Given the description of an element on the screen output the (x, y) to click on. 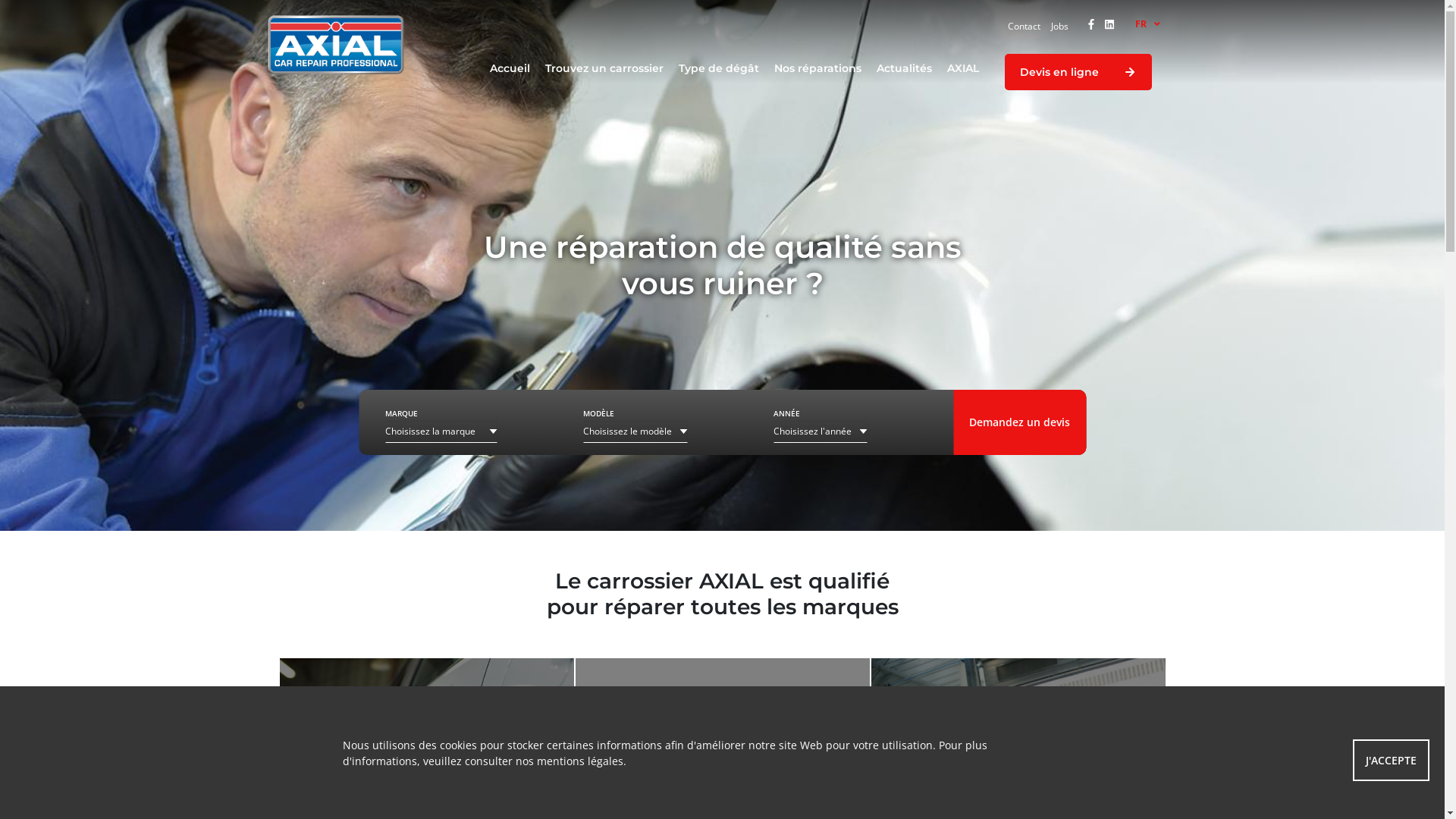
Accueil Element type: text (509, 68)
Devis en ligne Element type: text (1077, 71)
Demandez un devis Element type: text (1019, 422)
Jobs Element type: text (1059, 25)
J'ACCEPTE Element type: text (1390, 760)
Contact Element type: text (1023, 25)
